Given the description of an element on the screen output the (x, y) to click on. 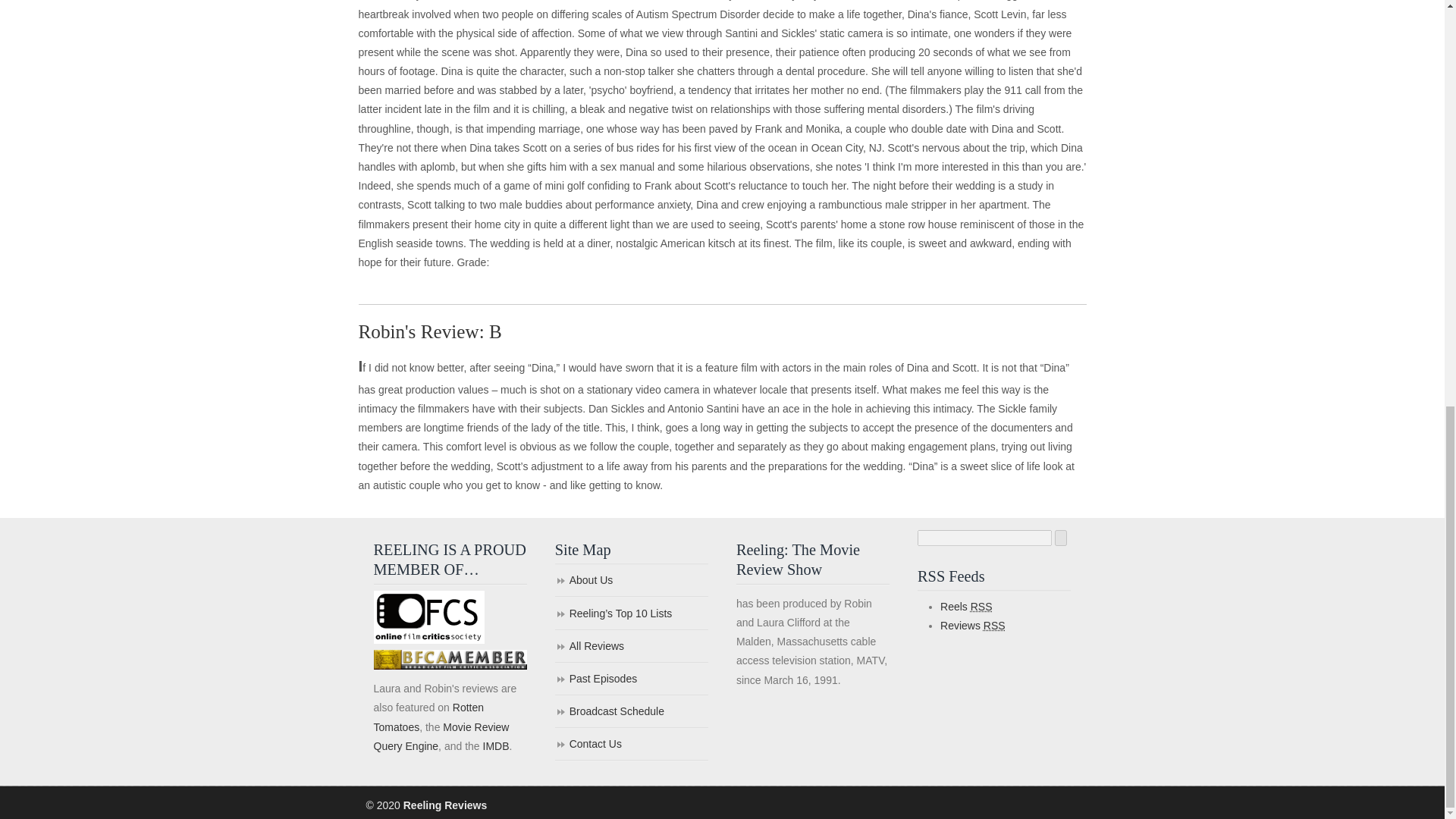
Reviews RSS (973, 625)
IMDB (494, 746)
Movie Review Query Engine (440, 736)
Rotten Tomatoes (427, 716)
The latest Episodes in RSS (965, 606)
Contact Us (630, 744)
All Reviews (630, 646)
Broadcast Schedule (630, 712)
The latest Reviews in RSS (973, 625)
About Us (630, 581)
